Given the description of an element on the screen output the (x, y) to click on. 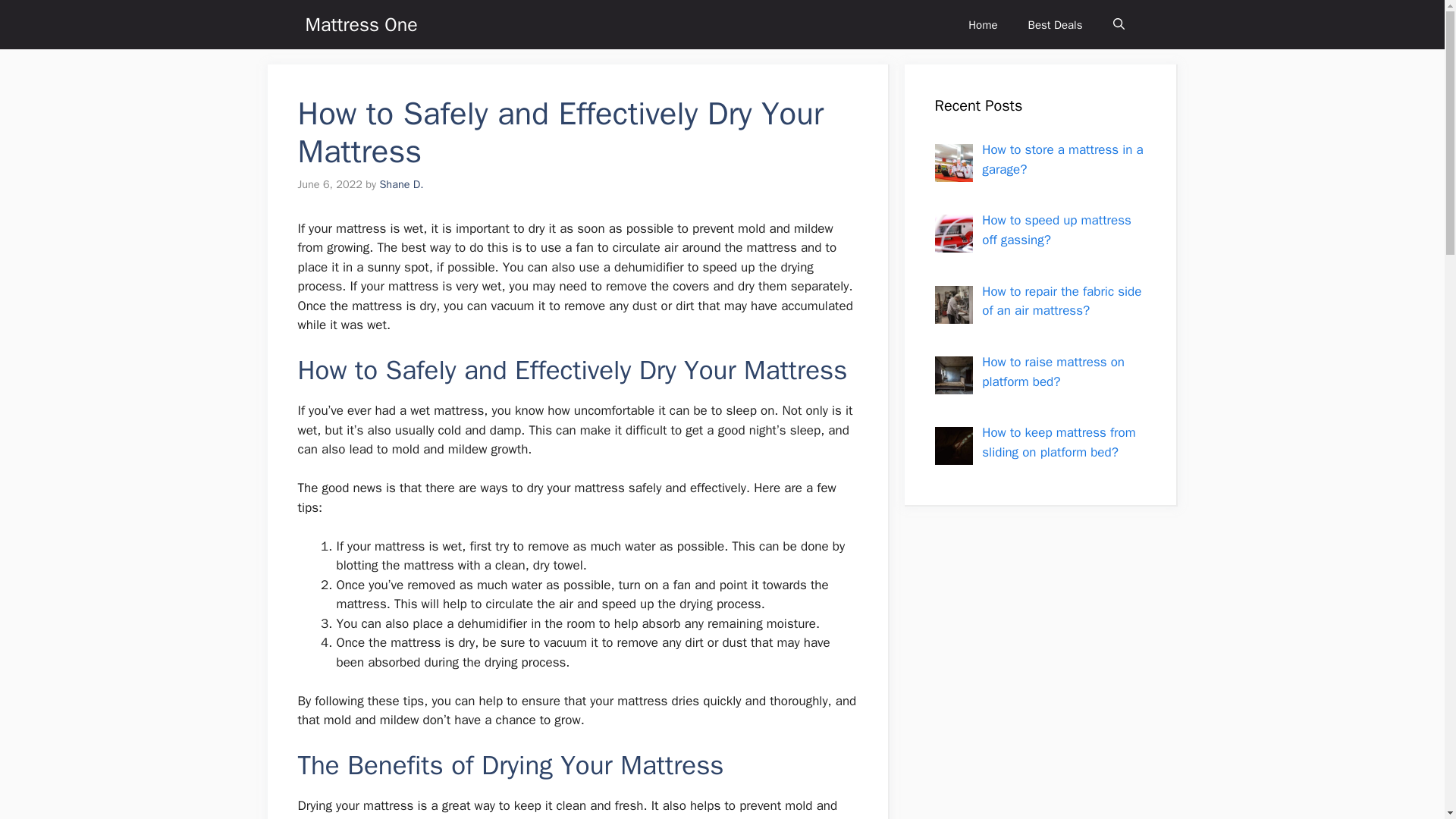
Mattress One (360, 24)
How to speed up mattress off gassing? (1056, 230)
Home (982, 23)
Best Deals (1055, 23)
How to store a mattress in a garage? (1061, 159)
How to repair the fabric side of an air mattress? (1061, 301)
How to raise mattress on platform bed? (1052, 371)
View all posts by Shane D. (400, 183)
How to keep mattress from sliding on platform bed? (1058, 442)
Shane D. (400, 183)
